Given the description of an element on the screen output the (x, y) to click on. 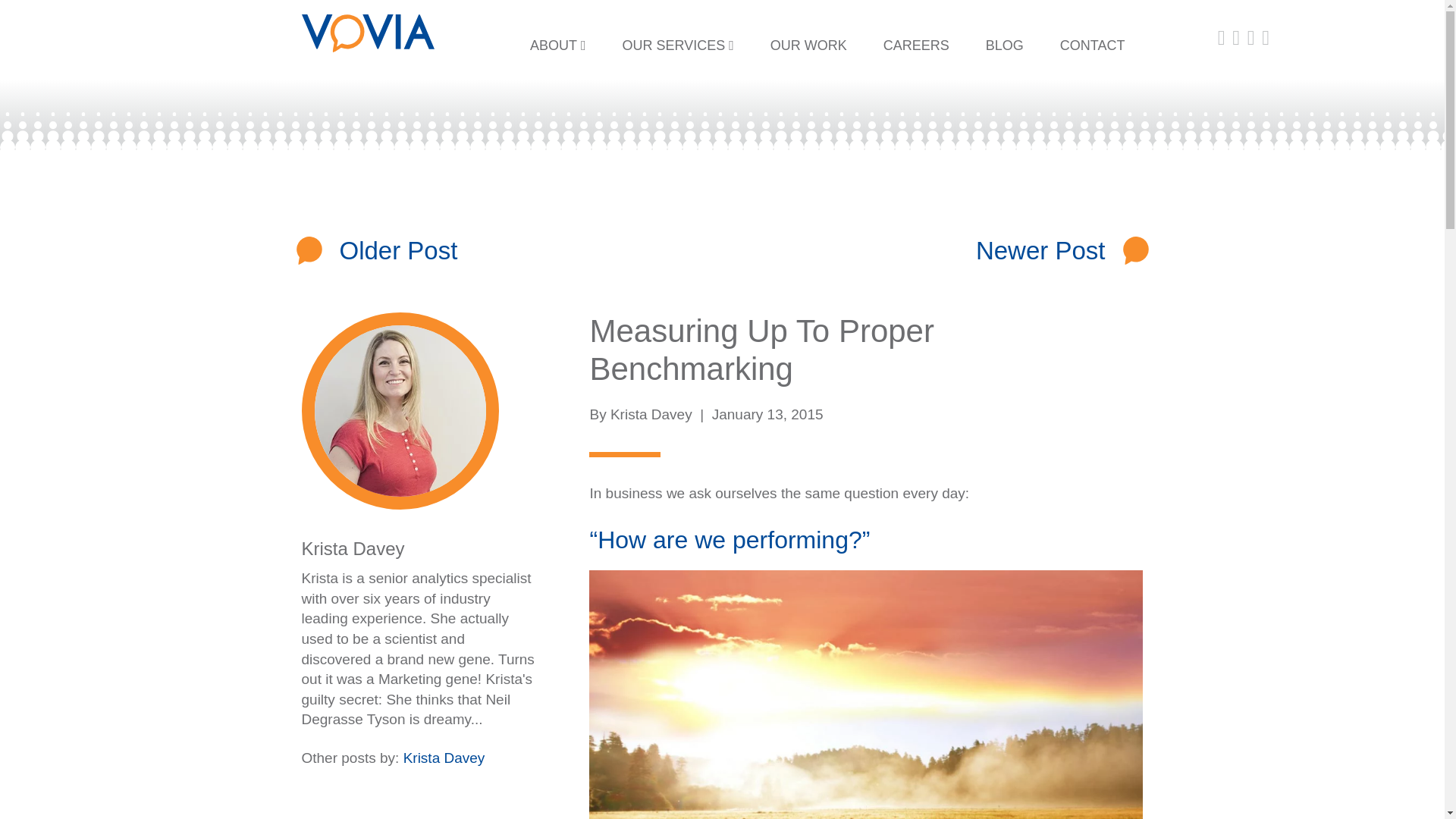
ABOUT (558, 45)
Older Post (398, 250)
CAREERS (916, 45)
CONTACT (1092, 45)
OUR SERVICES (677, 45)
Posts by Krista Davey (651, 414)
Posts by Krista Davey (352, 548)
BLOG (1005, 45)
Posts by Krista Davey (443, 757)
OUR WORK (808, 45)
